Given the description of an element on the screen output the (x, y) to click on. 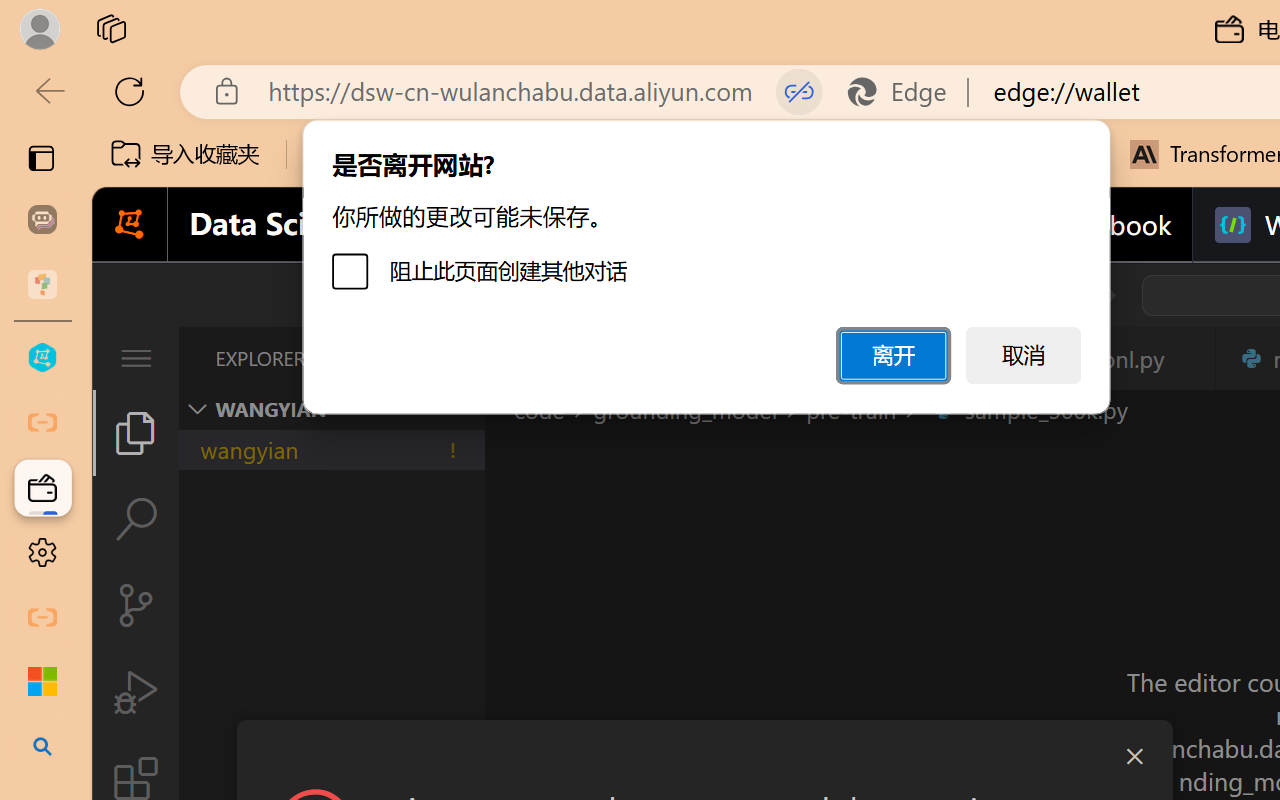
Search (Ctrl+Shift+F) (135, 519)
Class: actions-container (703, 756)
Close Dialog (1133, 756)
Run and Debug (Ctrl+Shift+D) (135, 692)
Class: menubar compact overflow-menu-only (135, 358)
Microsoft security help and learning (42, 681)
Explorer (Ctrl+Shift+E) (135, 432)
